Given the description of an element on the screen output the (x, y) to click on. 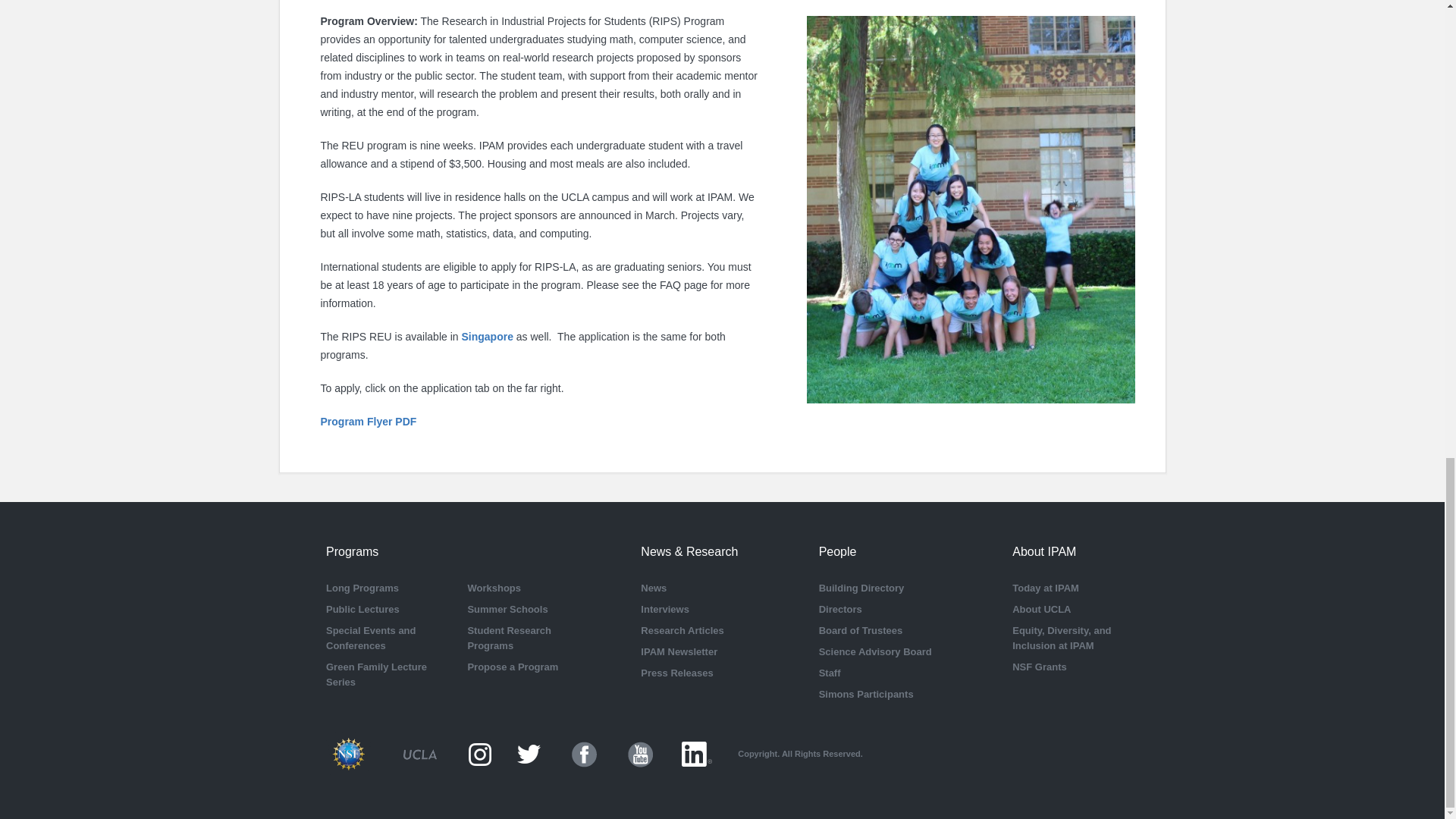
RIPS-Singapore (488, 336)
